Given the description of an element on the screen output the (x, y) to click on. 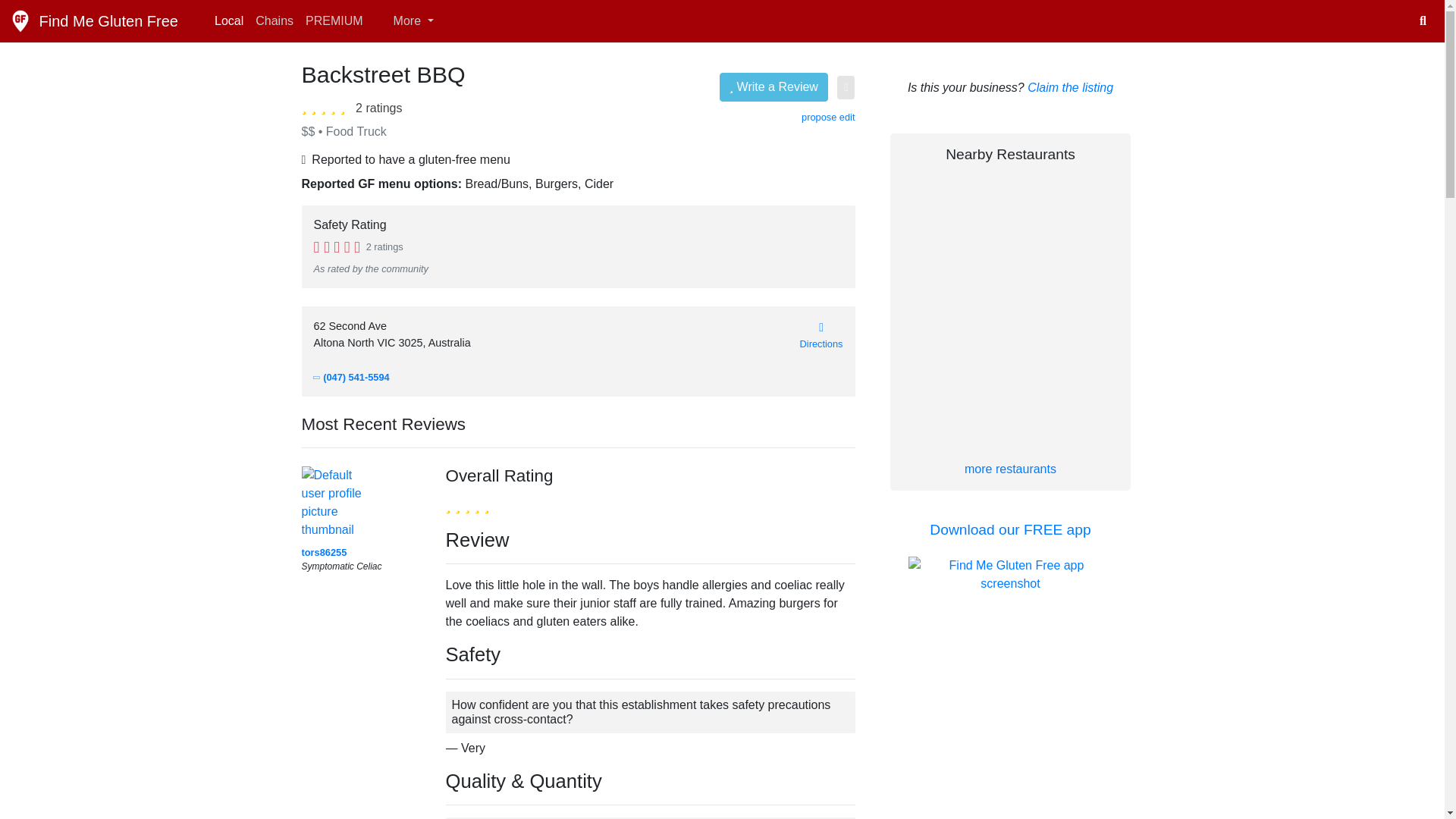
More (404, 20)
Download our FREE app (1010, 529)
propose edit (828, 116)
5.0 star rating (325, 105)
Find Me Gluten Free (94, 20)
4.85 safety rating (336, 246)
Local (228, 20)
Write a Review (773, 86)
tors86255 (324, 555)
PREMIUM (334, 20)
5 star rating (467, 504)
Directions (821, 334)
Claim the listing (1070, 87)
Chains (273, 20)
more restaurants (1010, 468)
